Given the description of an element on the screen output the (x, y) to click on. 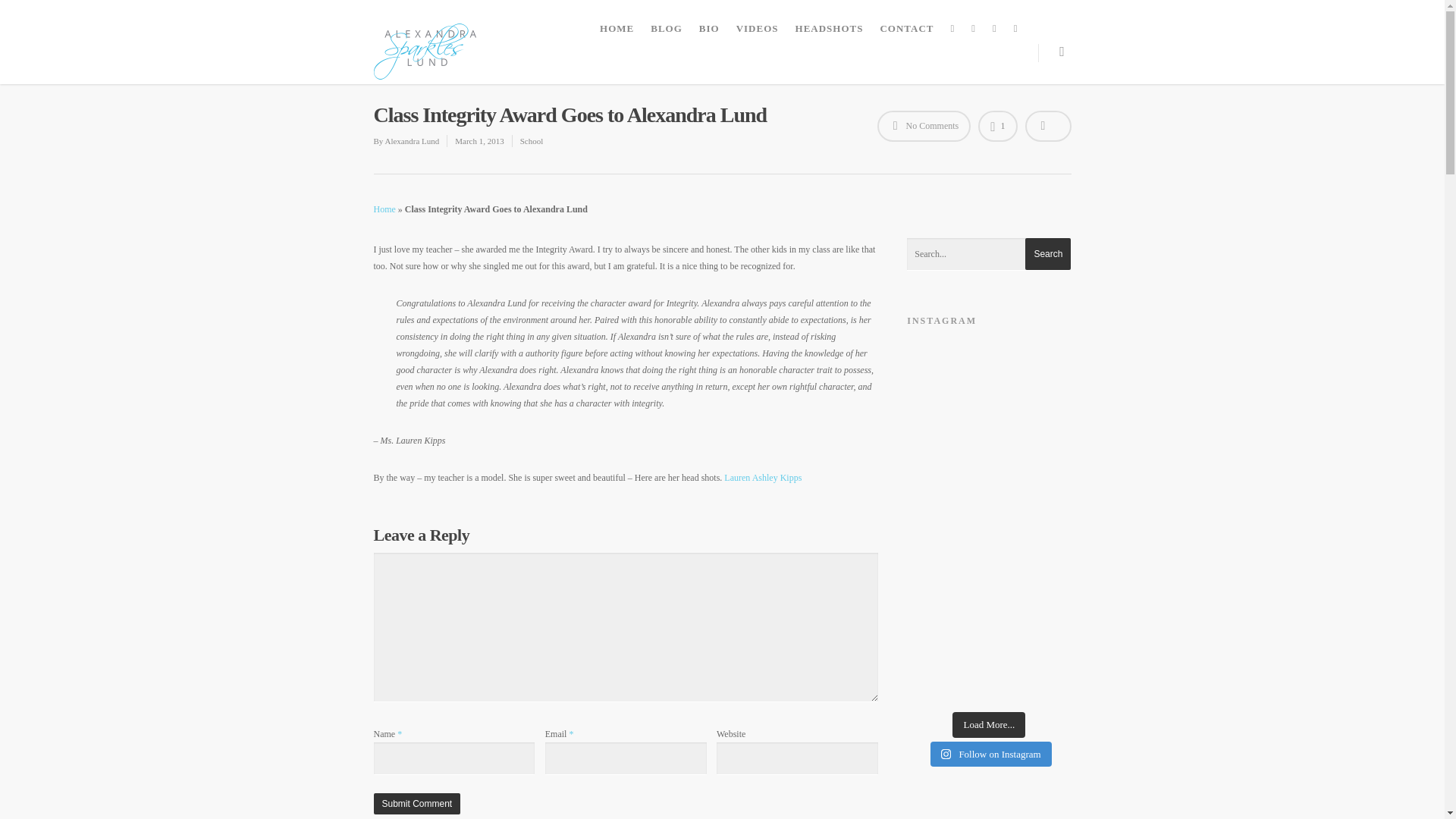
Alexandra Lund (411, 140)
Lauren Ashley Kipps (762, 477)
Search (1047, 254)
School (531, 140)
Home (383, 208)
Search (1047, 254)
CONTACT (906, 28)
BIO (708, 28)
Search for: (988, 254)
Posts by Alexandra Lund (411, 140)
